Given the description of an element on the screen output the (x, y) to click on. 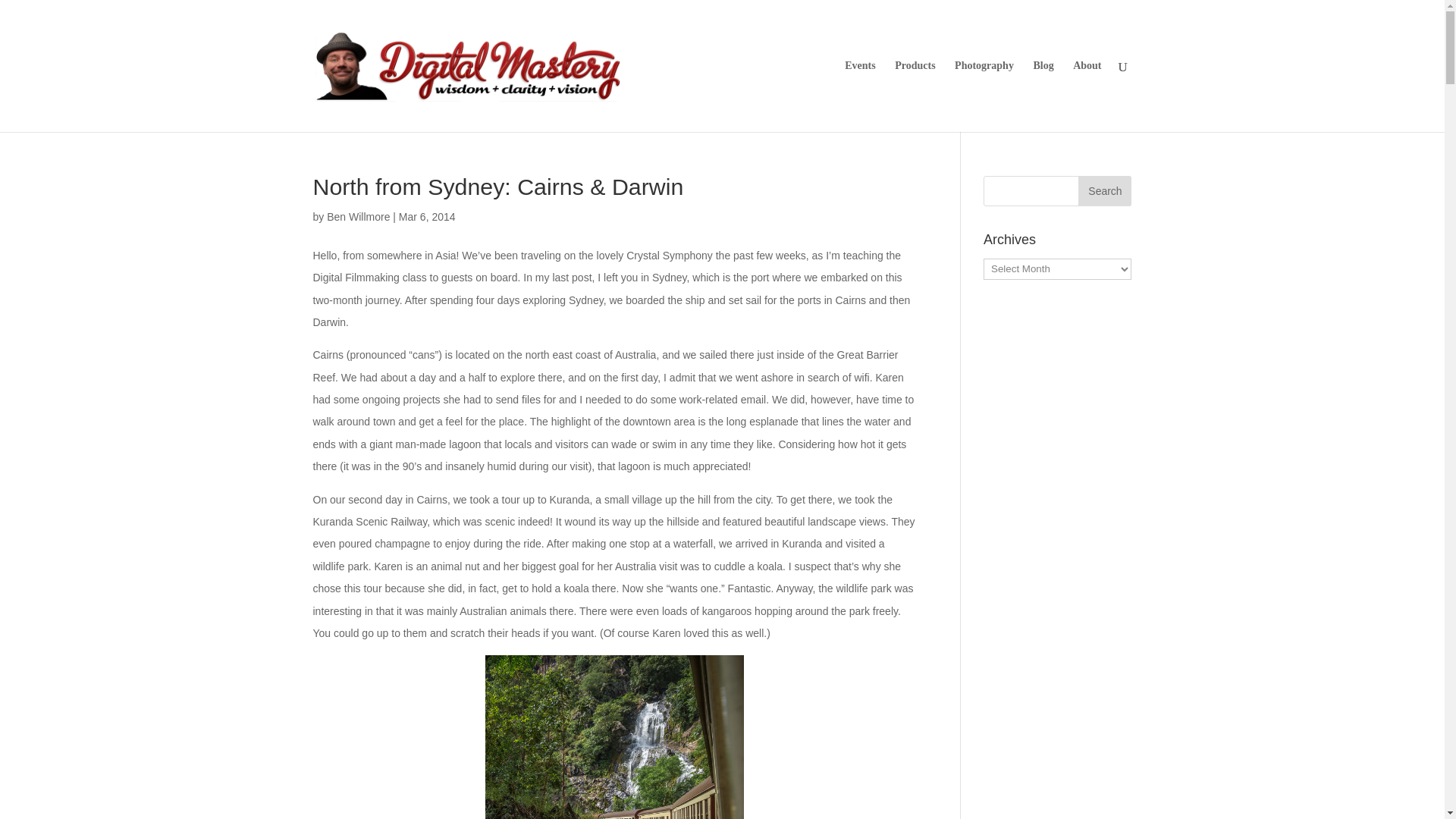
Search (1104, 191)
Posts by Ben Willmore (358, 216)
Search (1104, 191)
Ben Willmore (358, 216)
